Given the description of an element on the screen output the (x, y) to click on. 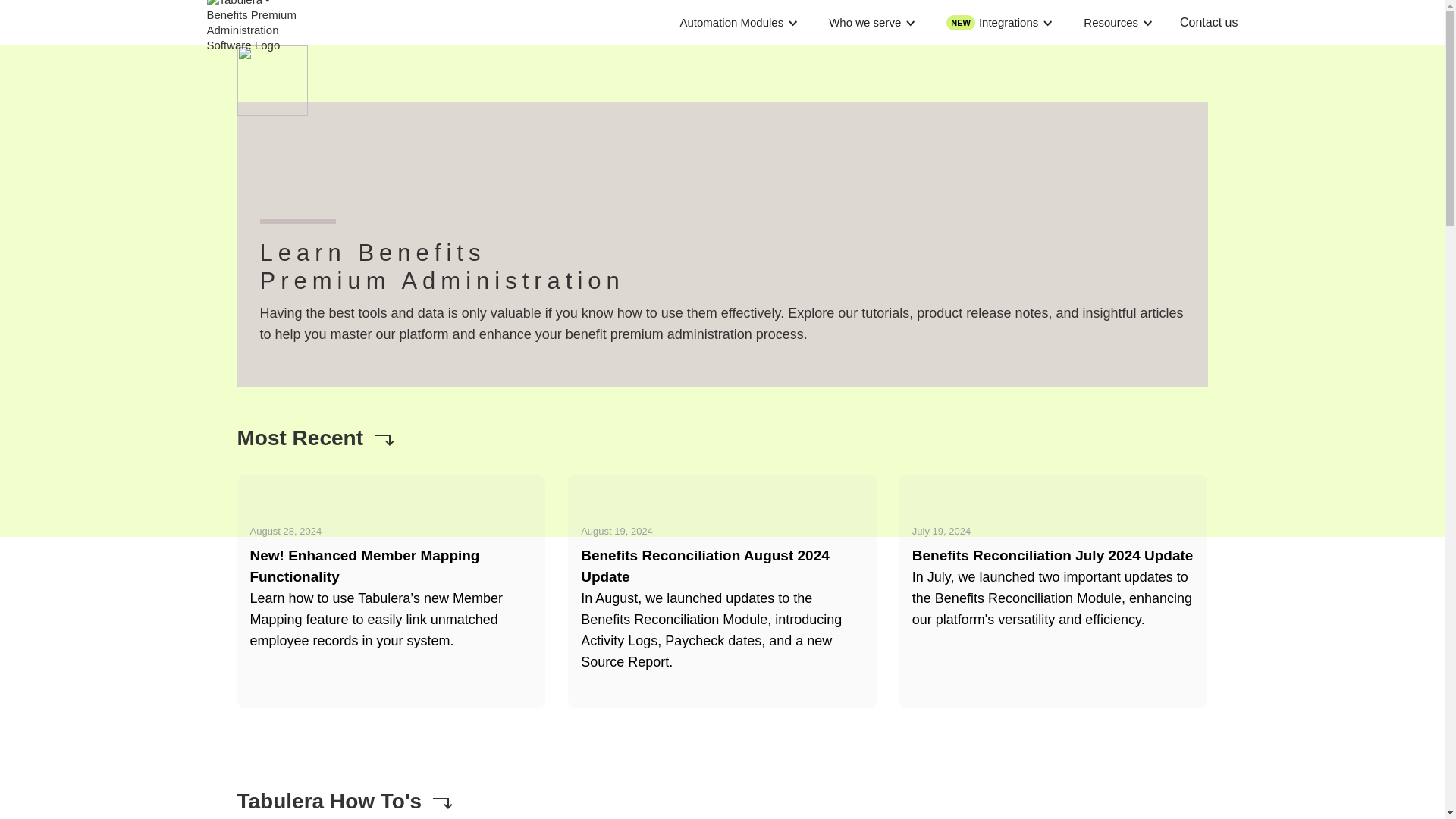
Contact us (1209, 22)
